Given the description of an element on the screen output the (x, y) to click on. 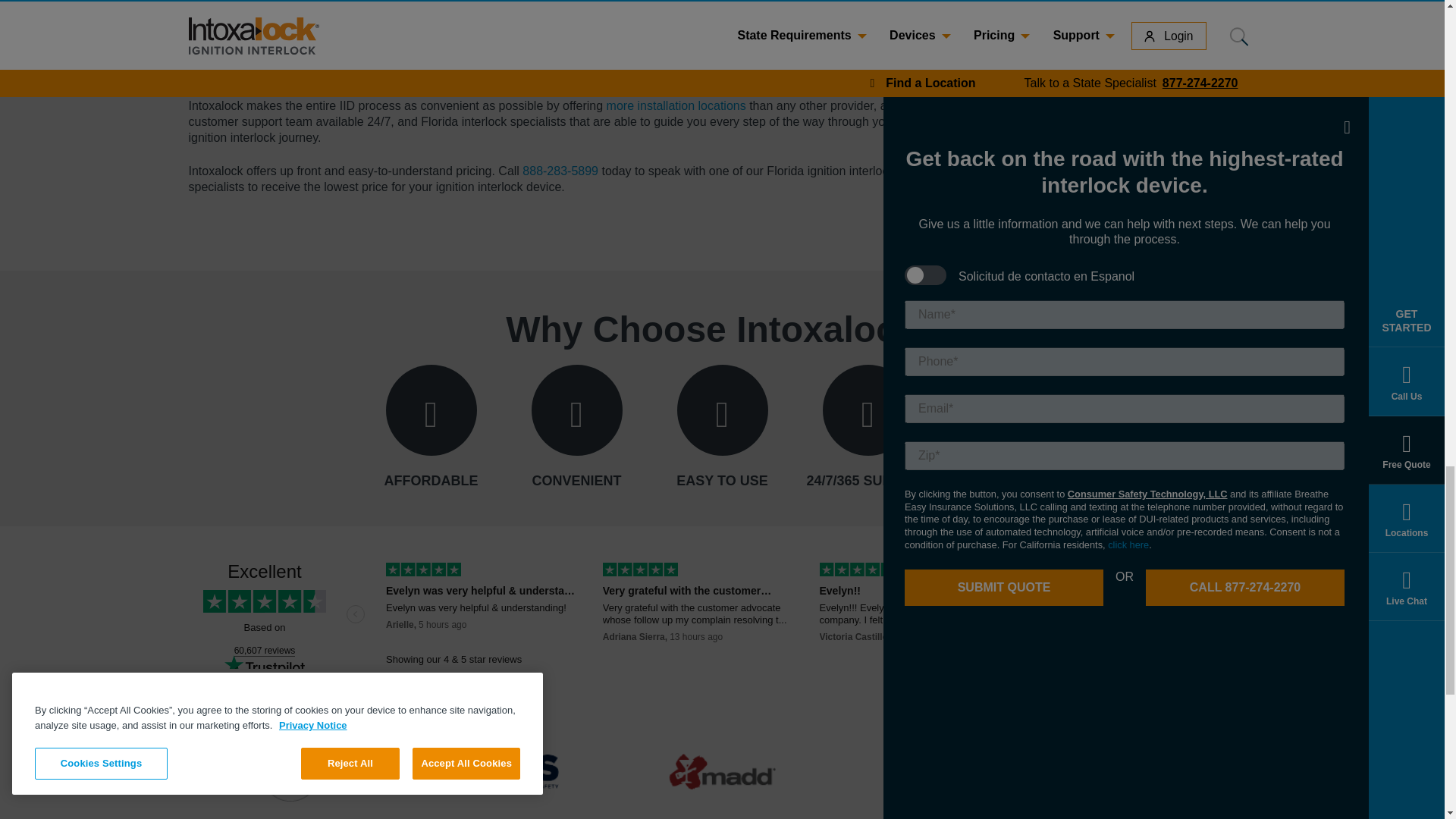
Request a Quote (1089, 154)
Customer reviews powered by Trustpilot (721, 615)
Florida installation locations (676, 105)
Ignition Interlock Costs (1104, 131)
Intoxalock FAQs (1087, 107)
Find a Location Near You (1118, 83)
